Given the description of an element on the screen output the (x, y) to click on. 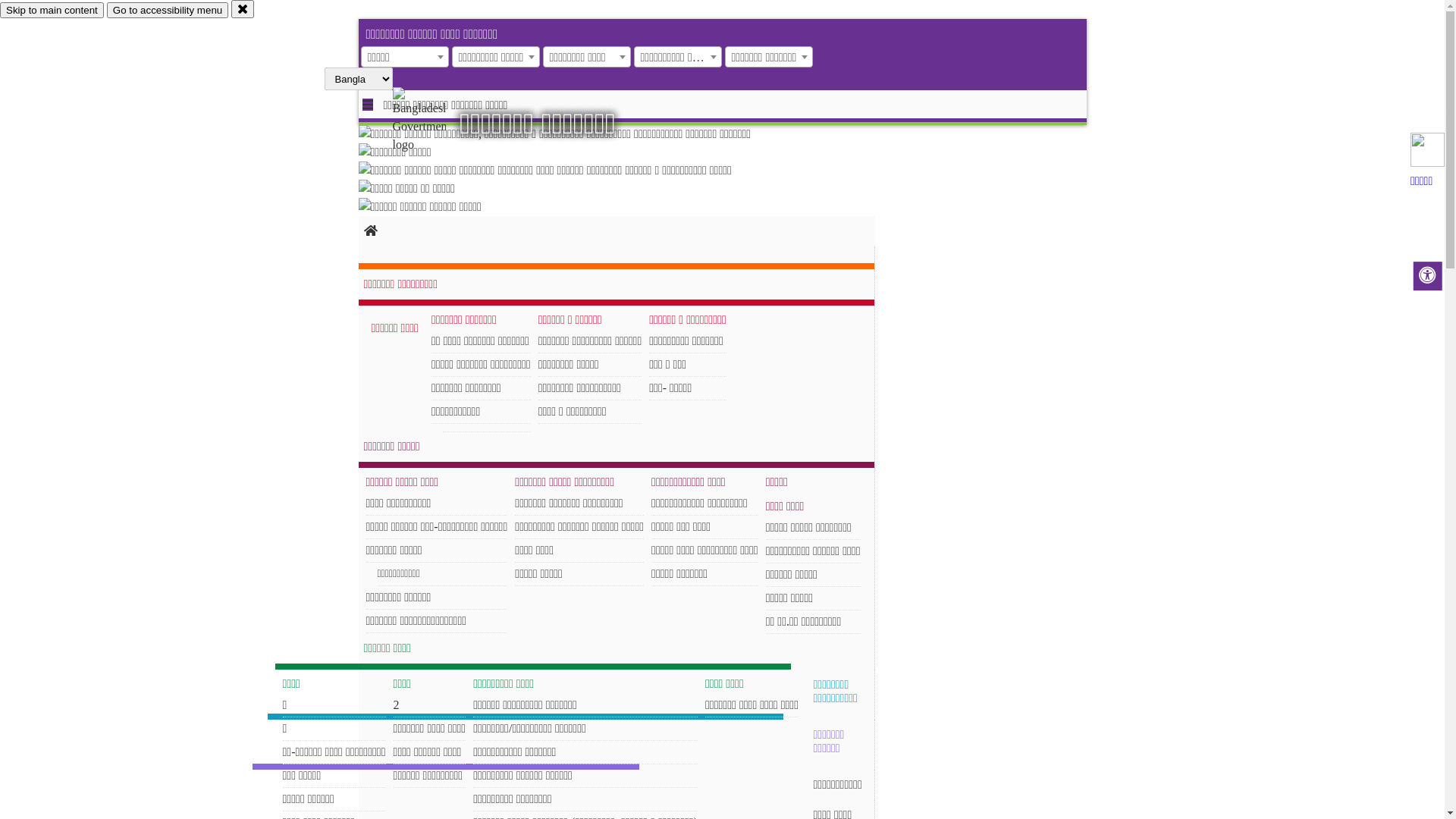
Skip to main content Element type: text (51, 10)
2 Element type: text (429, 705)
Go to accessibility menu Element type: text (167, 10)
close Element type: hover (242, 9)

                
             Element type: hover (431, 120)
